Given the description of an element on the screen output the (x, y) to click on. 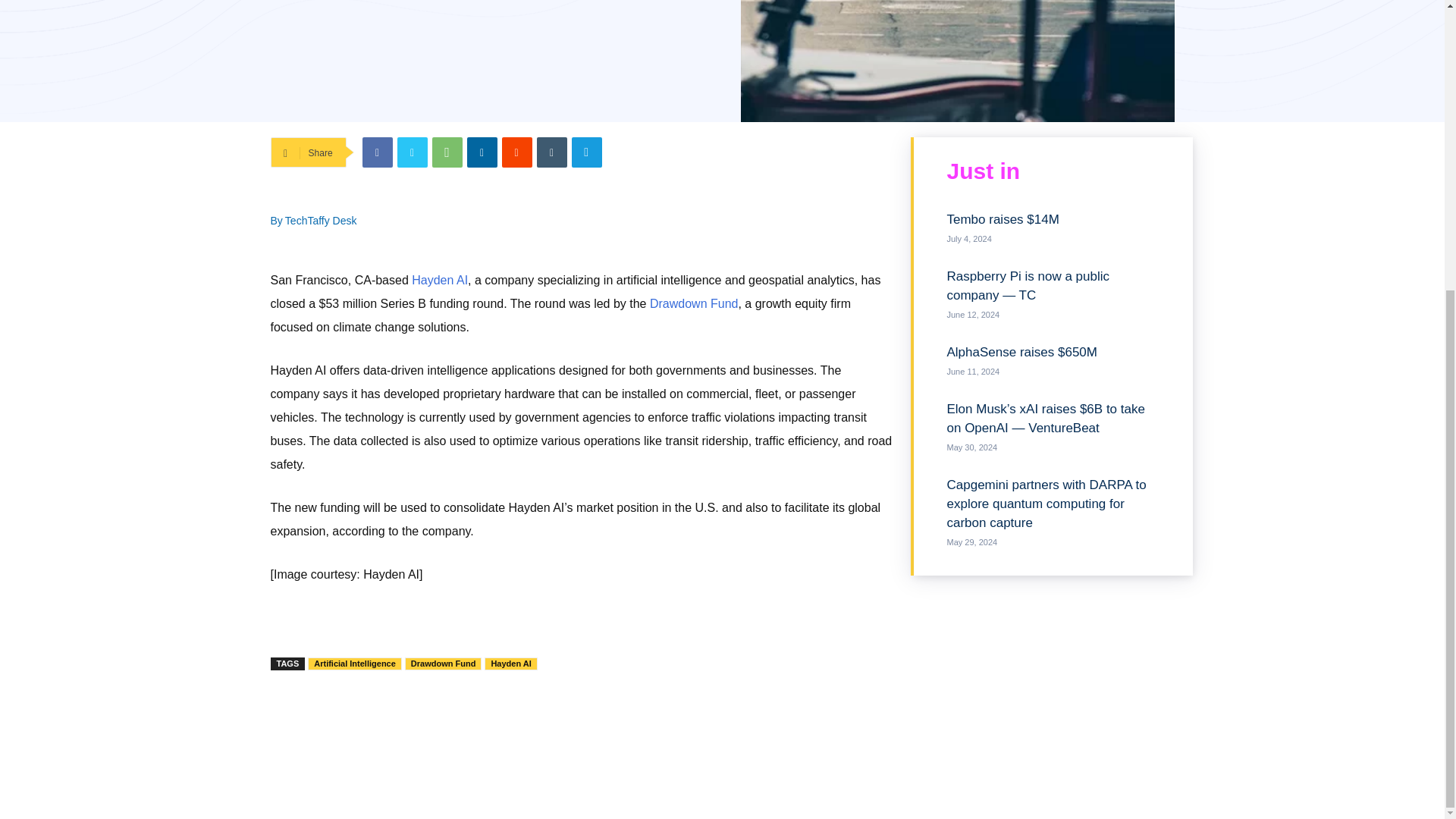
TechTaffy Desk (320, 220)
Hayden AI (439, 279)
ReddIt (517, 152)
Telegram (587, 152)
Twitter (412, 152)
Linkedin (482, 152)
Hayden AI (510, 663)
Drawdown Fund (442, 663)
Tumblr (552, 152)
WhatsApp (447, 152)
